Given the description of an element on the screen output the (x, y) to click on. 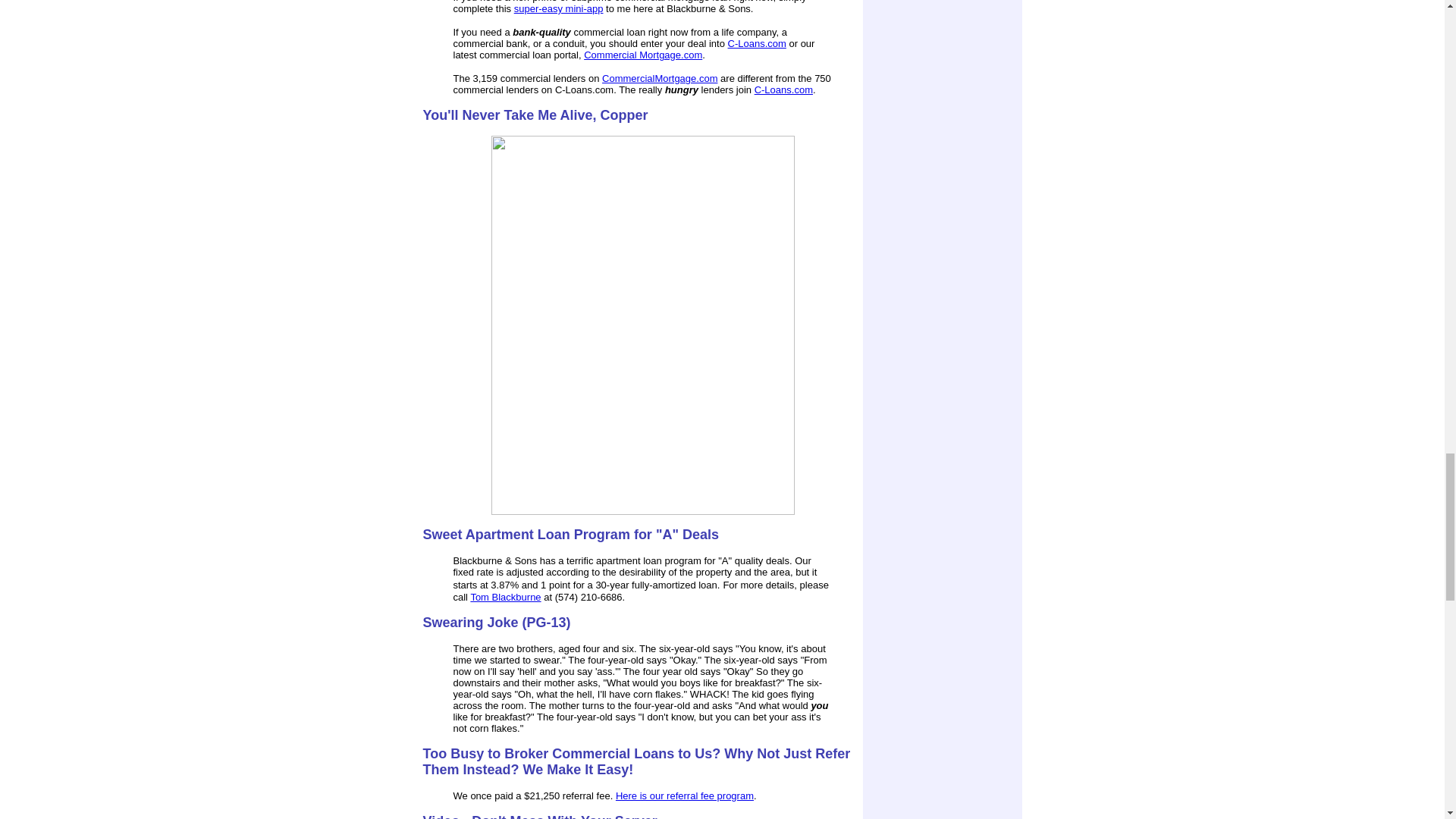
CommercialMortgage.com (659, 78)
Tom Blackburne (505, 596)
Short commercial loan application (558, 8)
Commercial Mortgage.com (642, 54)
super-easy mini-app (558, 8)
C-Loans.com (757, 43)
Here is our referral fee program (684, 795)
Free commercial loan portal to 750 commercial lenders. (757, 43)
C-Loans.com (783, 89)
